Given the description of an element on the screen output the (x, y) to click on. 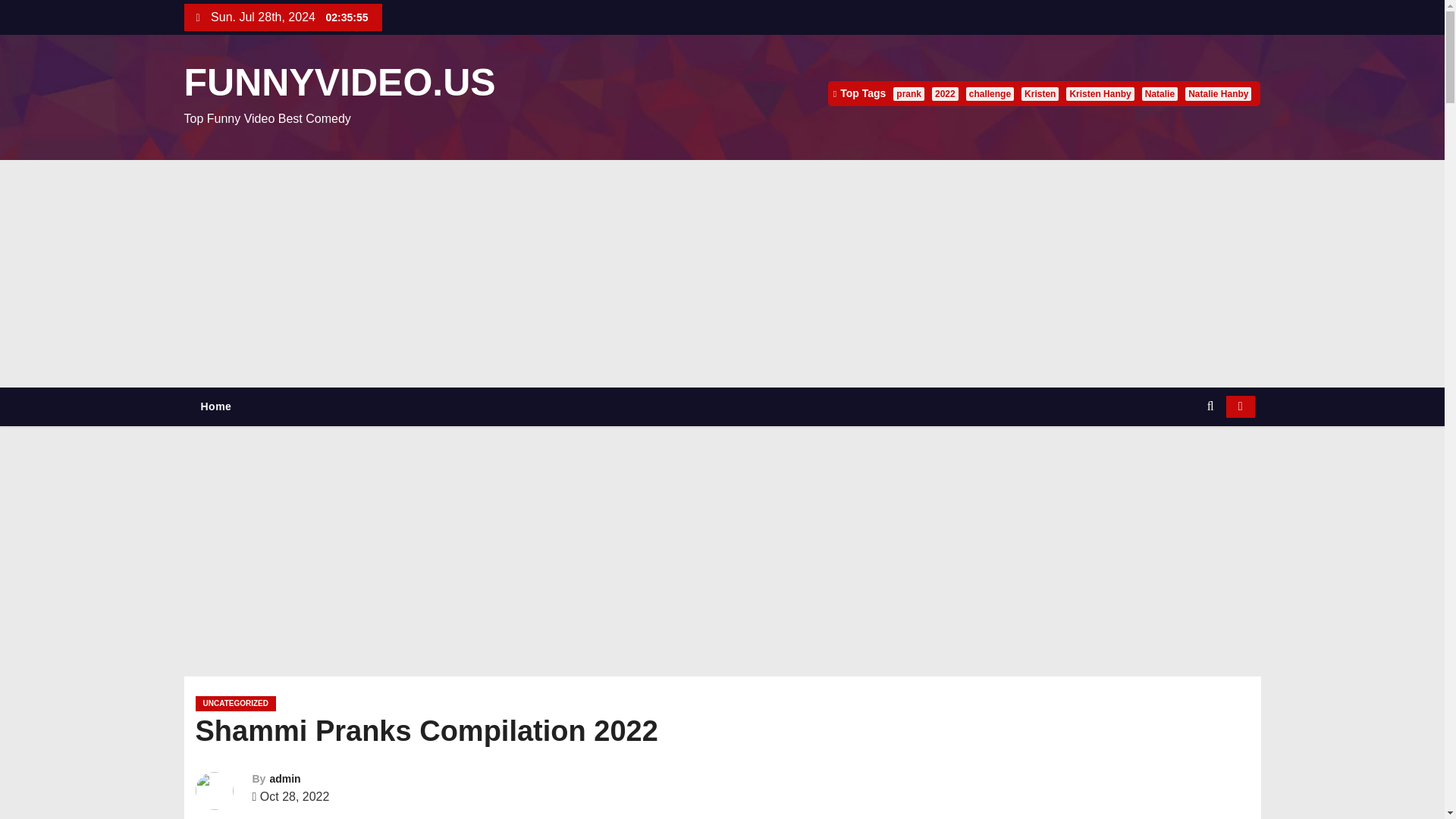
Kristen (1040, 93)
Home (215, 406)
FUNNYVIDEO.US (339, 82)
challenge (989, 93)
Natalie (1159, 93)
prank (908, 93)
admin (284, 778)
2022 (944, 93)
Home (215, 406)
Natalie Hanby (1217, 93)
Kristen Hanby (1099, 93)
UNCATEGORIZED (235, 703)
